Given the description of an element on the screen output the (x, y) to click on. 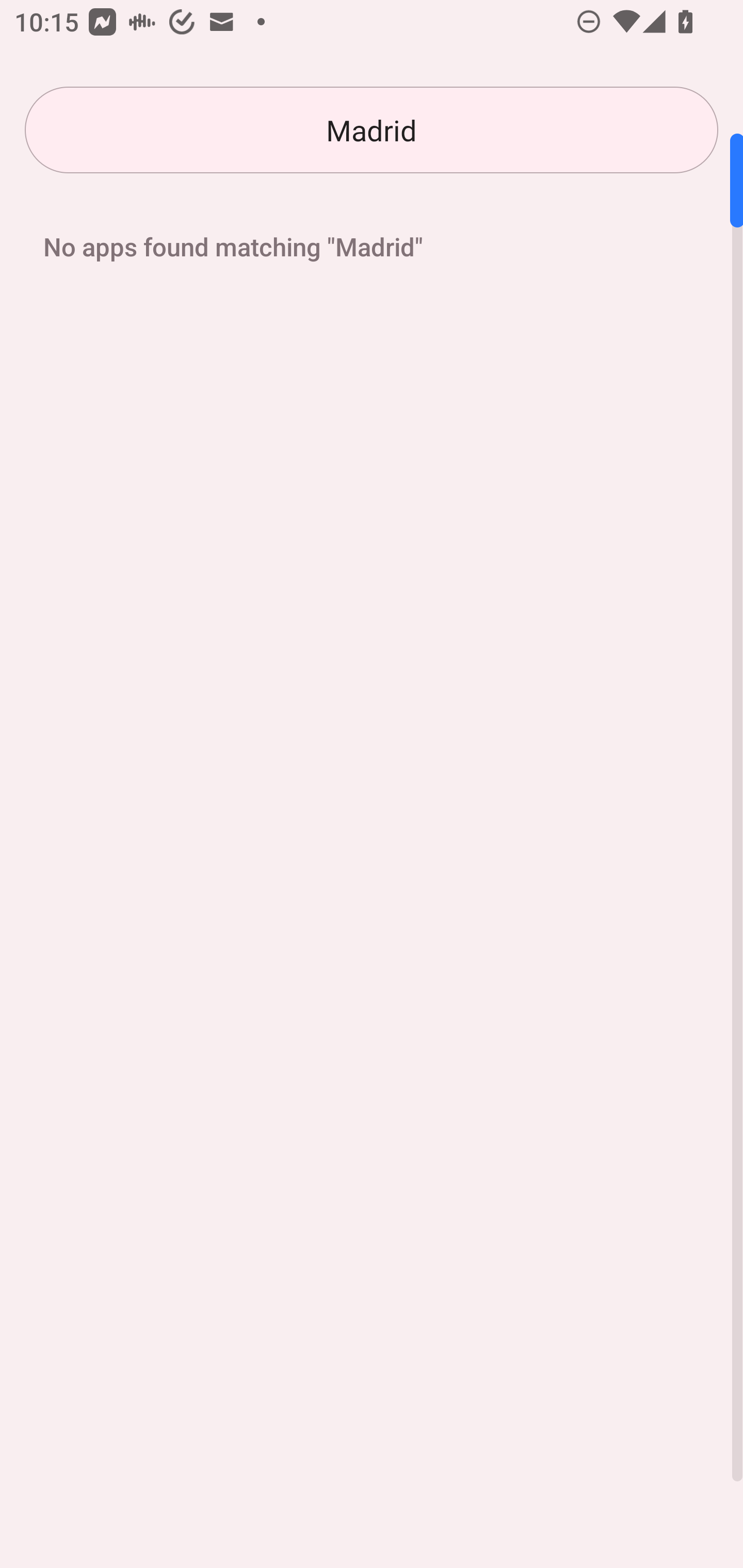
Madrid (371, 130)
